Given the description of an element on the screen output the (x, y) to click on. 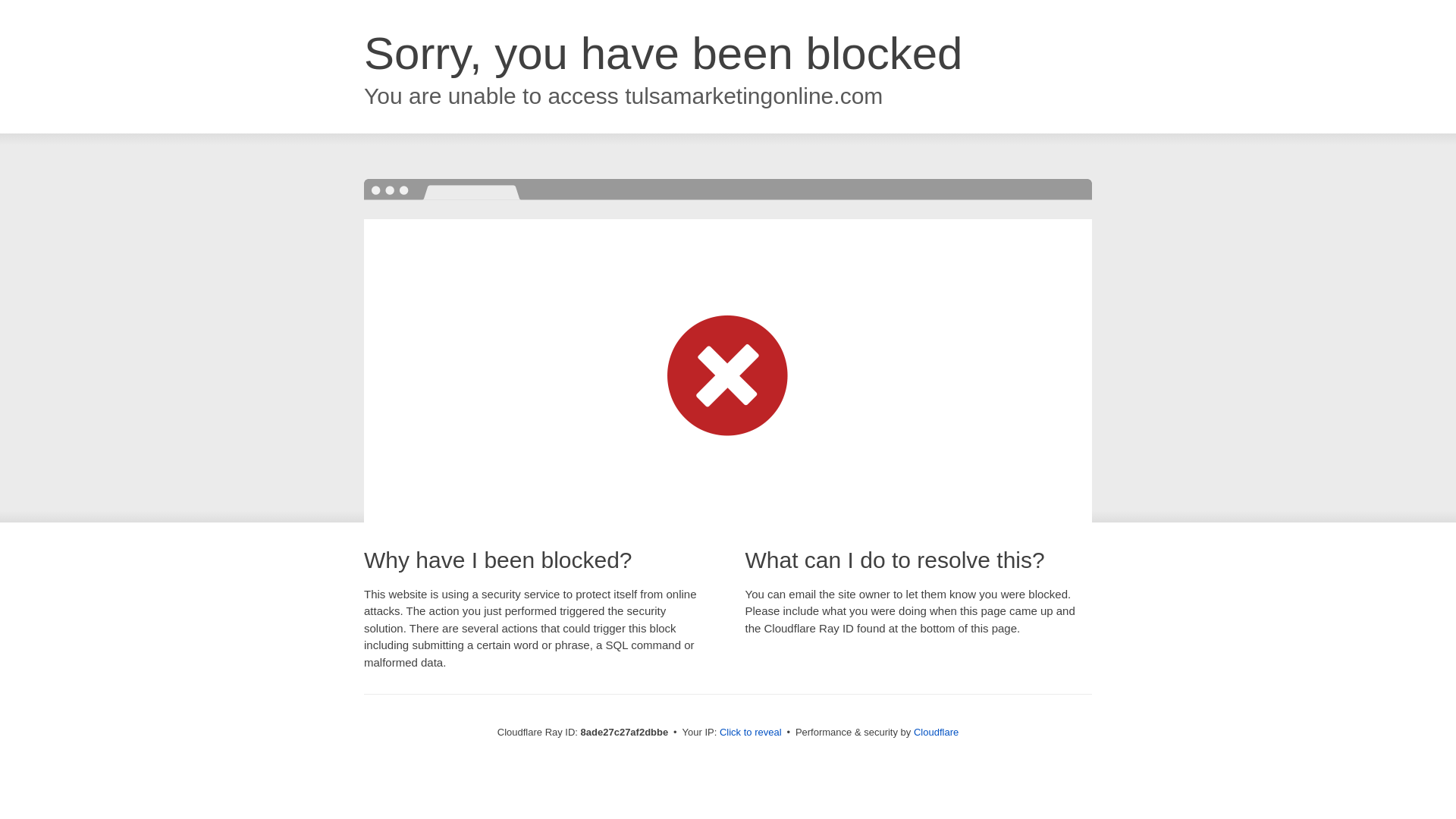
Cloudflare (936, 731)
Click to reveal (750, 732)
